Given the description of an element on the screen output the (x, y) to click on. 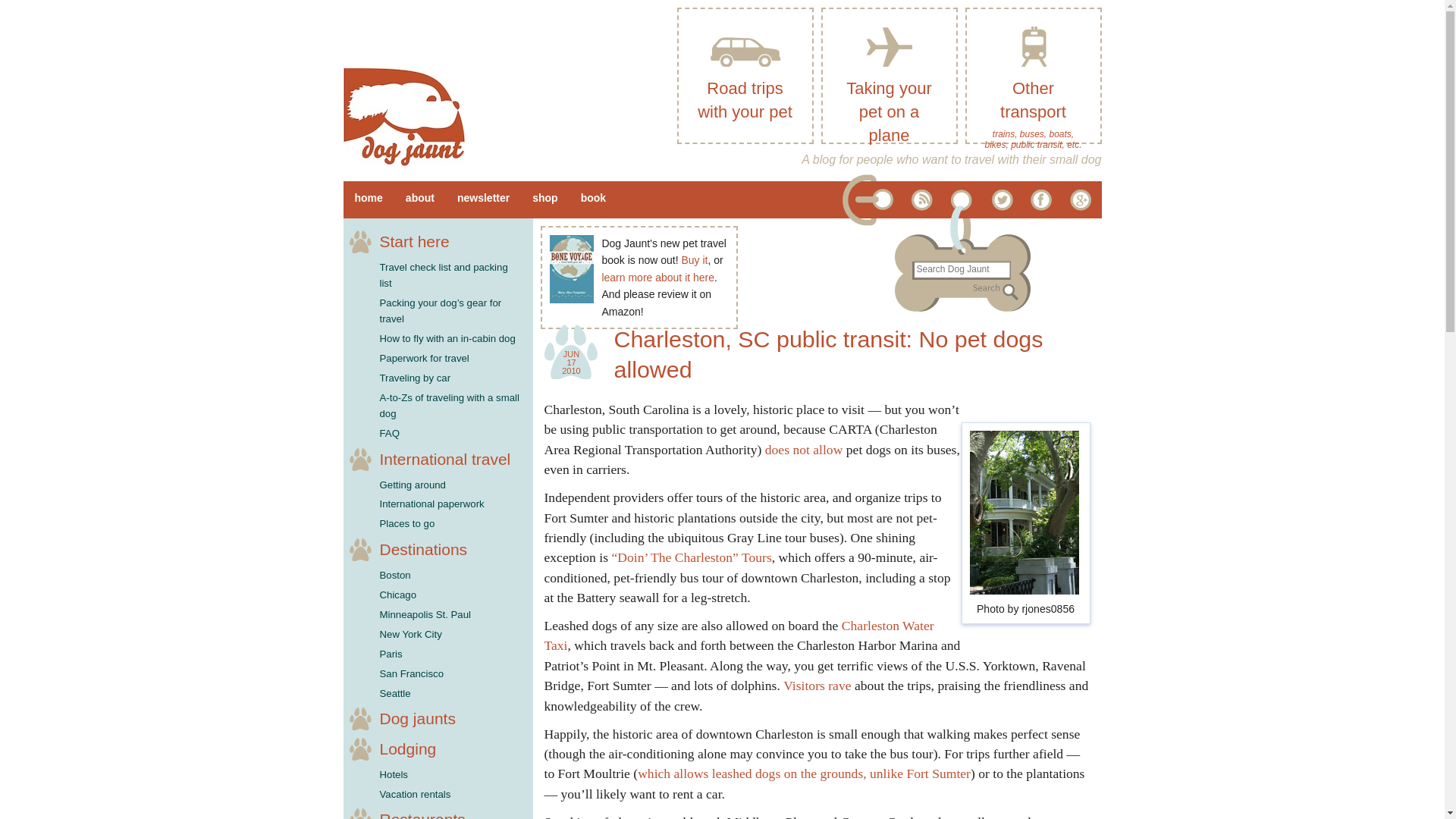
Visitors rave (816, 685)
CARTA pet policy (804, 449)
Buy it (694, 259)
book (593, 199)
home (367, 199)
Road trips with your pet (744, 75)
Taking your pet on a plane (888, 75)
does not allow (804, 449)
Charleston Water Taxi (739, 635)
about (419, 199)
TripAdvisor reviews: Charleston Water Taxi (816, 685)
learn more about it here (657, 277)
which allows leashed dogs on the grounds, unlike Fort Sumter (804, 773)
Charleston Water Taxi (739, 635)
Charleston, SC public transit: No pet dogs allowed (828, 353)
